Given the description of an element on the screen output the (x, y) to click on. 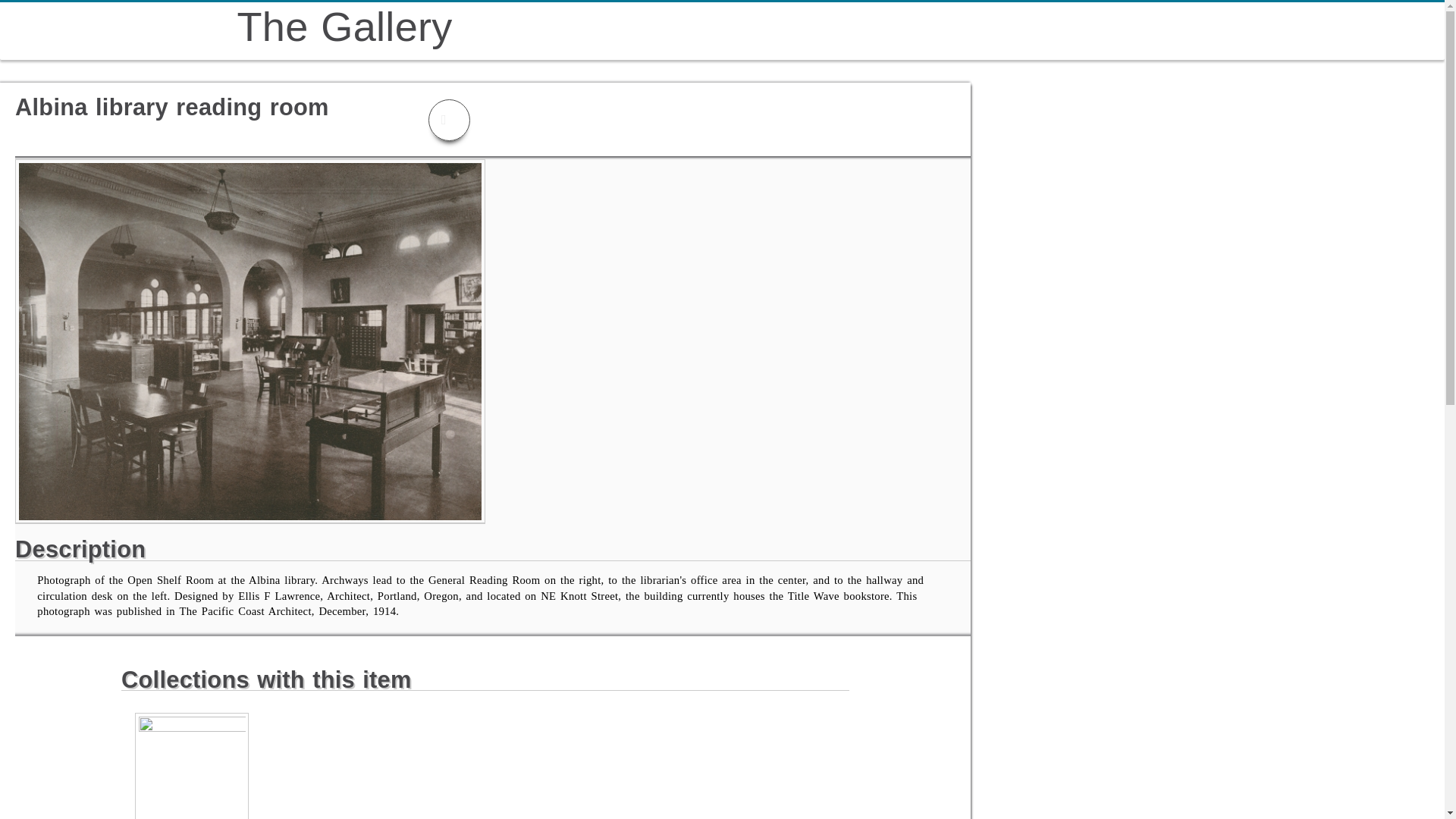
Home page (343, 26)
The Gallery (343, 26)
